Given the description of an element on the screen output the (x, y) to click on. 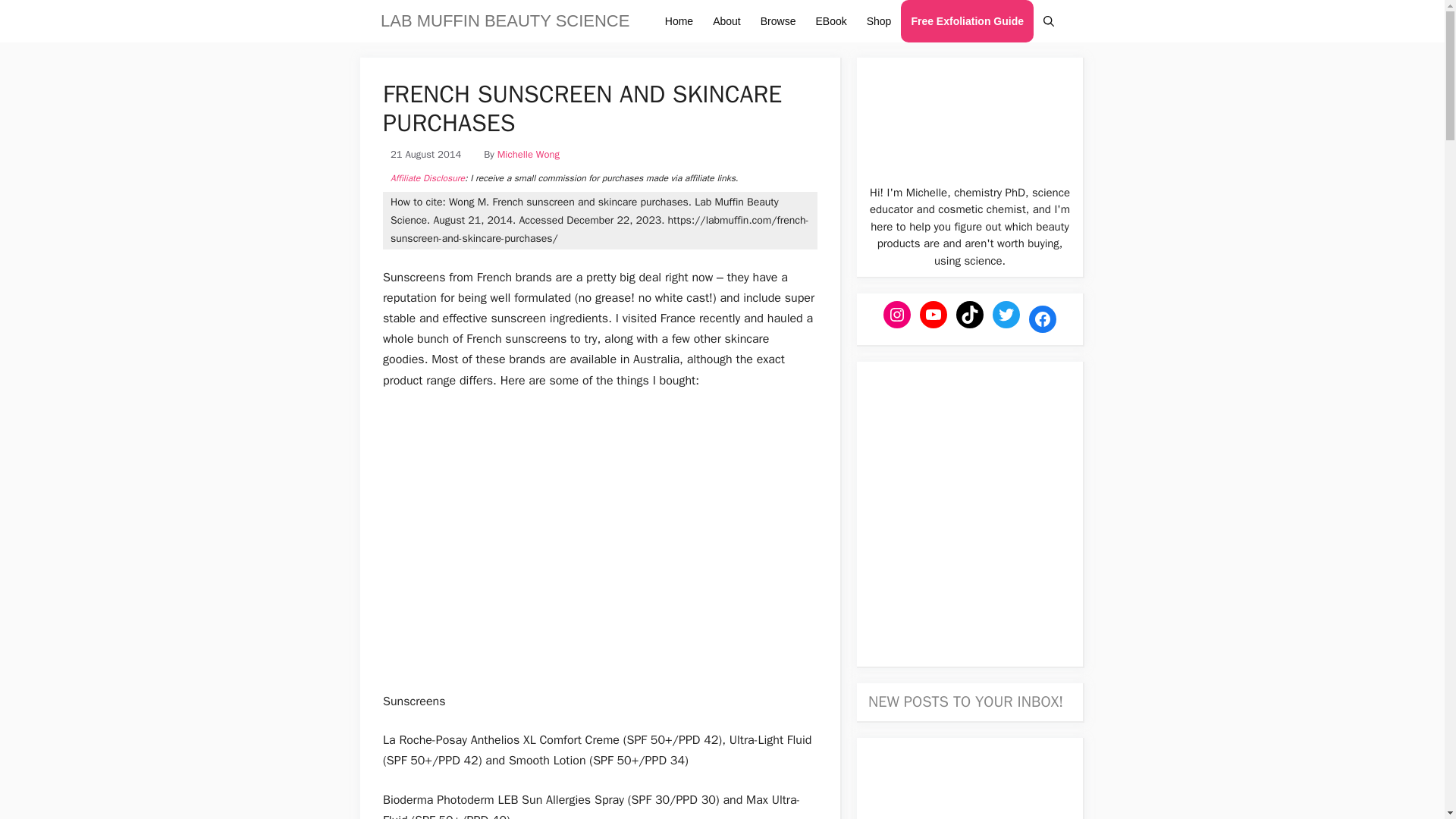
Michelle Wong (528, 154)
Browse (778, 21)
Free Exfoliation Guide (967, 21)
EBook (830, 21)
Affiliate Disclosure (427, 177)
Shop (879, 21)
LAB MUFFIN BEAUTY SCIENCE (504, 21)
Home (679, 21)
About (727, 21)
